Given the description of an element on the screen output the (x, y) to click on. 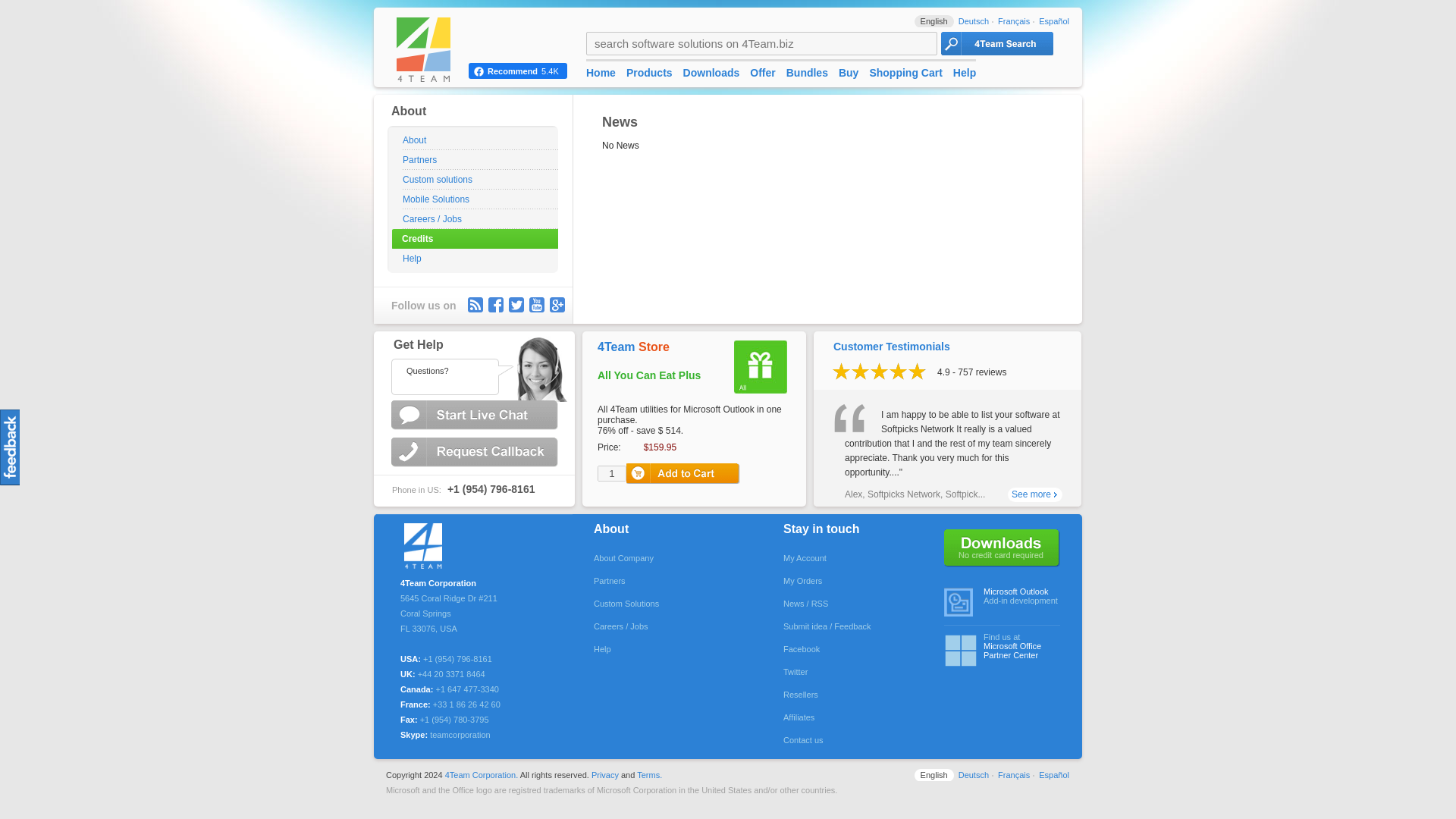
Bundles (807, 72)
teamcorporation (459, 734)
Downloads (710, 72)
Request Callback (475, 451)
4Team Search (996, 43)
youtube (536, 304)
All You Can Eat Plus (648, 375)
Partners (669, 580)
1 (611, 473)
Youtube (536, 304)
